Given the description of an element on the screen output the (x, y) to click on. 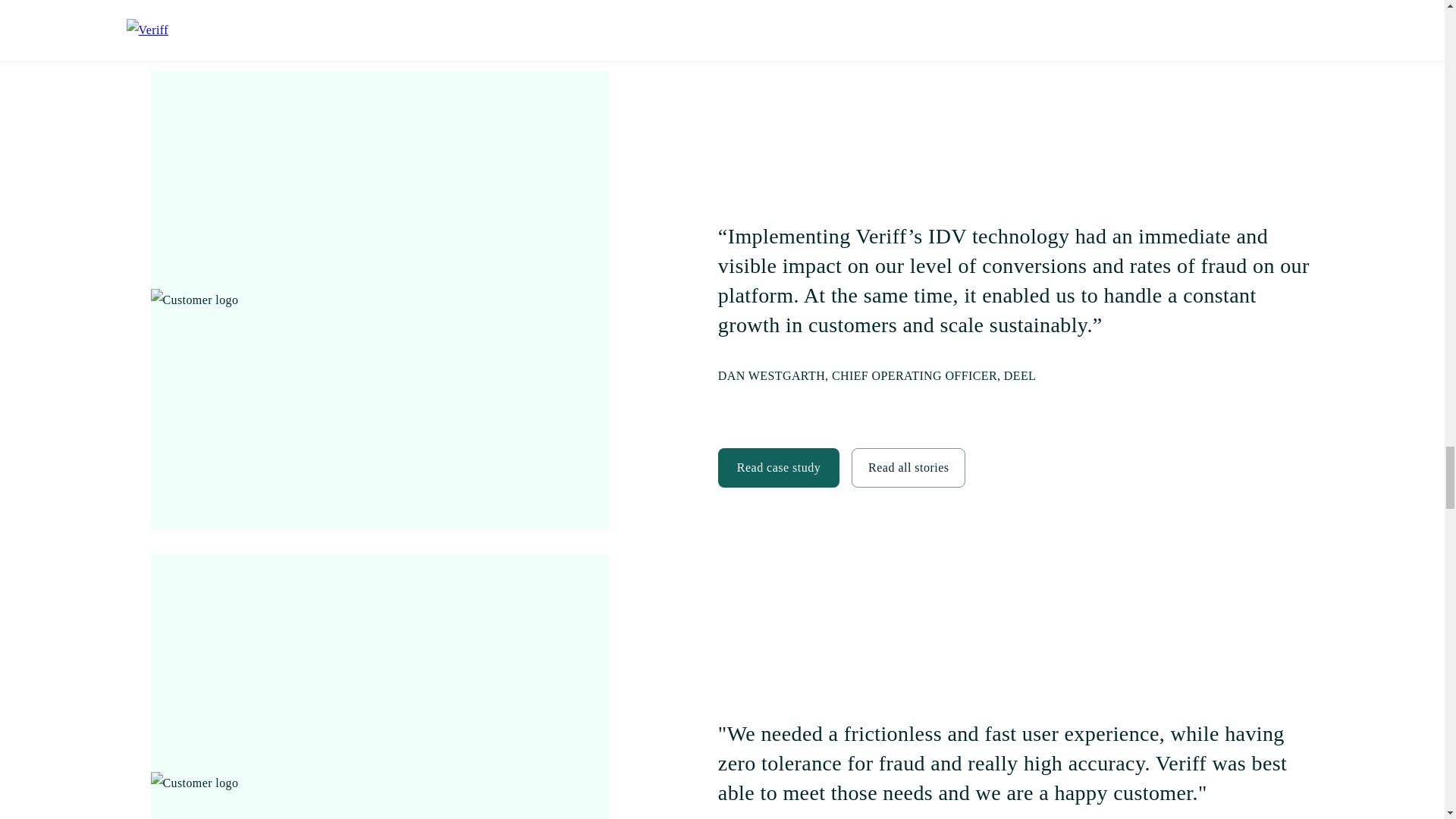
Read case study (778, 465)
Read case study (778, 467)
Read all stories (908, 465)
